Given the description of an element on the screen output the (x, y) to click on. 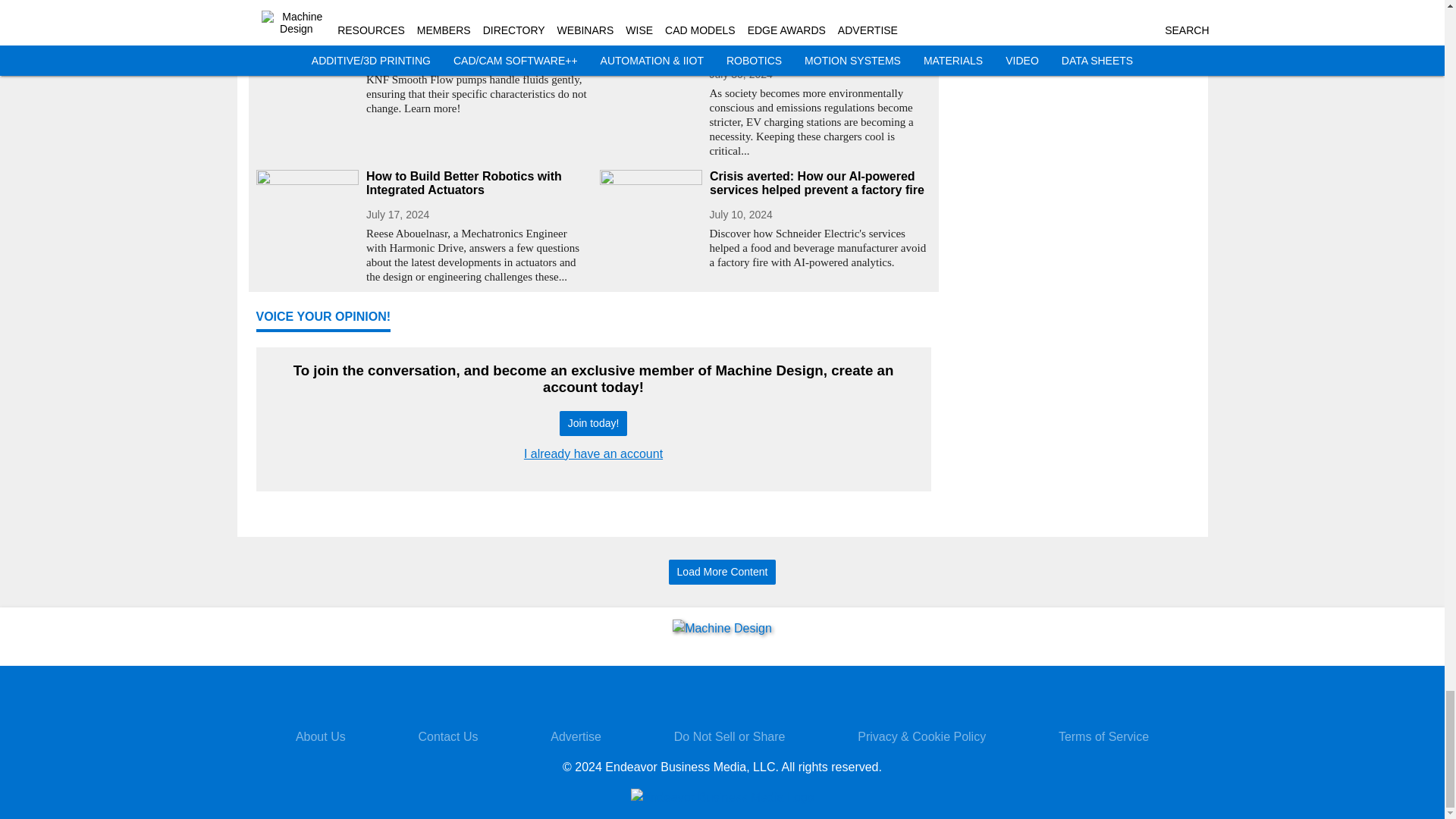
How to Build Better Robotics with Integrated Actuators (476, 183)
Join today! (593, 423)
Smooth Flow Pumps at a Closer Look (476, 36)
I already have an account (593, 453)
Pump Technology Keeps EV Charging Stations Cool (820, 42)
